Given the description of an element on the screen output the (x, y) to click on. 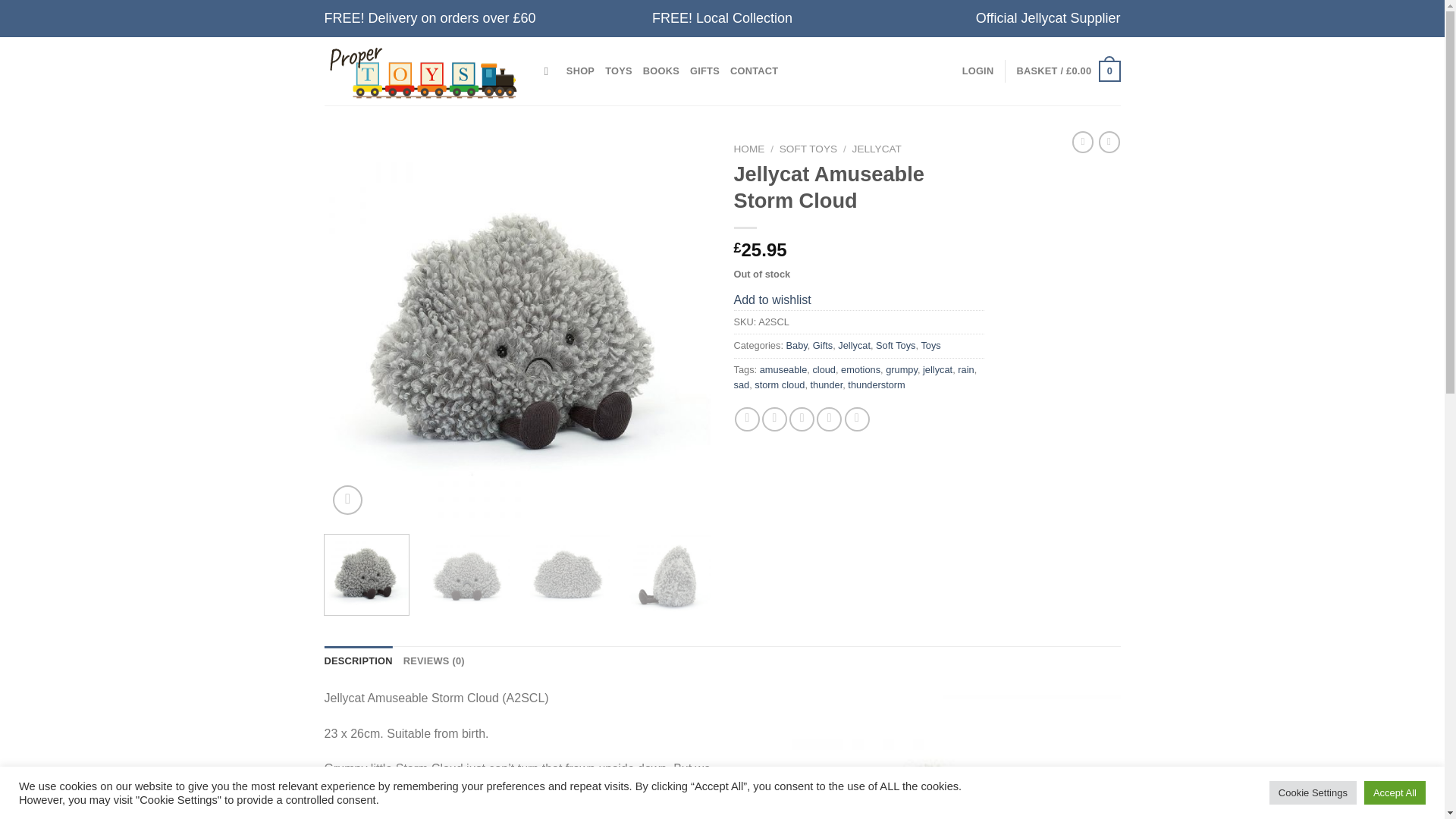
Gifts (822, 345)
LOGIN (978, 71)
Jellycat (854, 345)
BOOKS (661, 71)
Share on Facebook (747, 419)
JELLYCAT (876, 148)
Zoom (347, 500)
Add to wishlist (771, 299)
TOYS (618, 71)
SHOP (580, 71)
CONTACT (753, 71)
HOME (749, 148)
Basket (1067, 70)
